Given the description of an element on the screen output the (x, y) to click on. 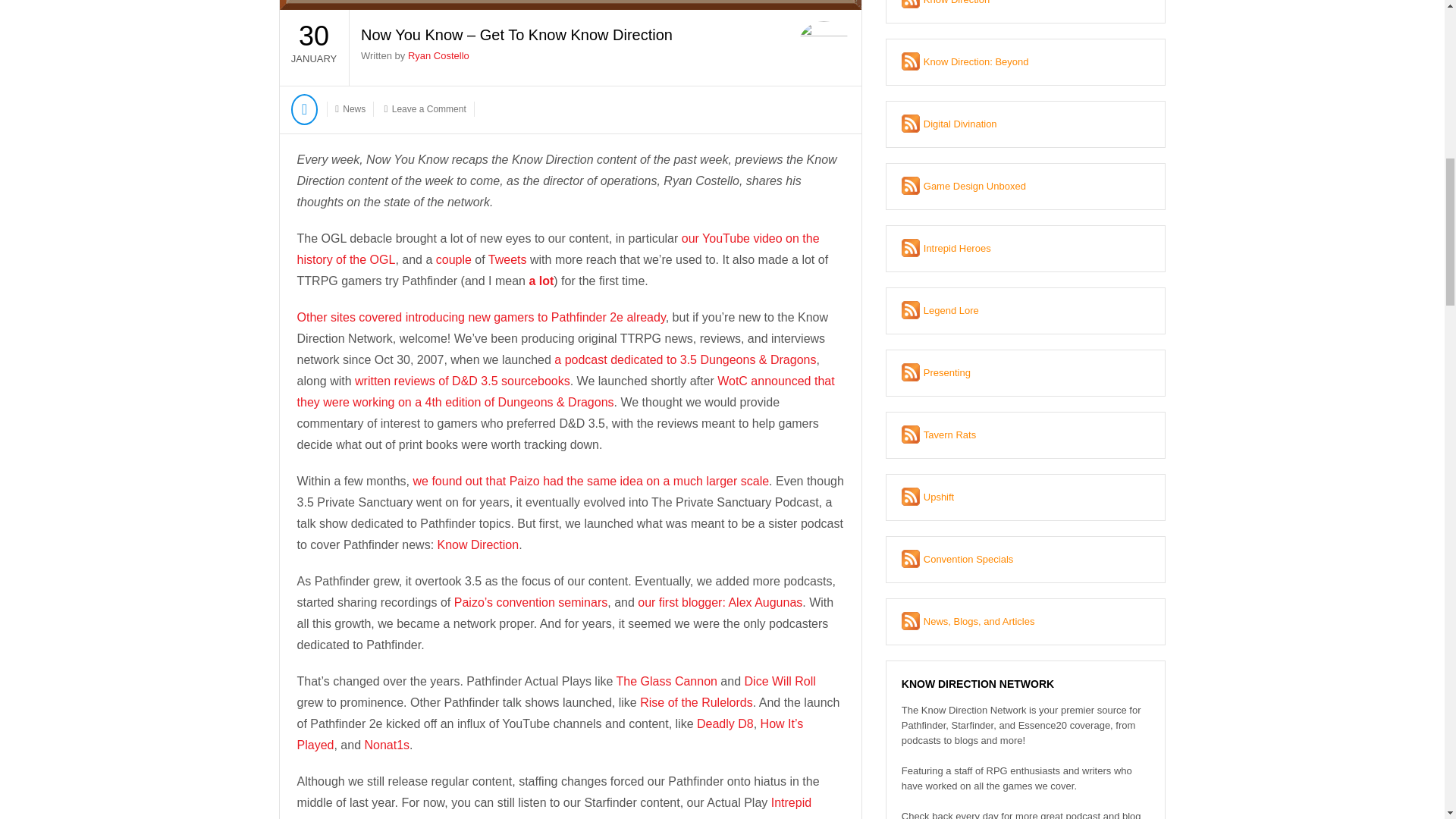
January 30, 2023 (313, 47)
Posts by Ryan Costello (437, 55)
